Given the description of an element on the screen output the (x, y) to click on. 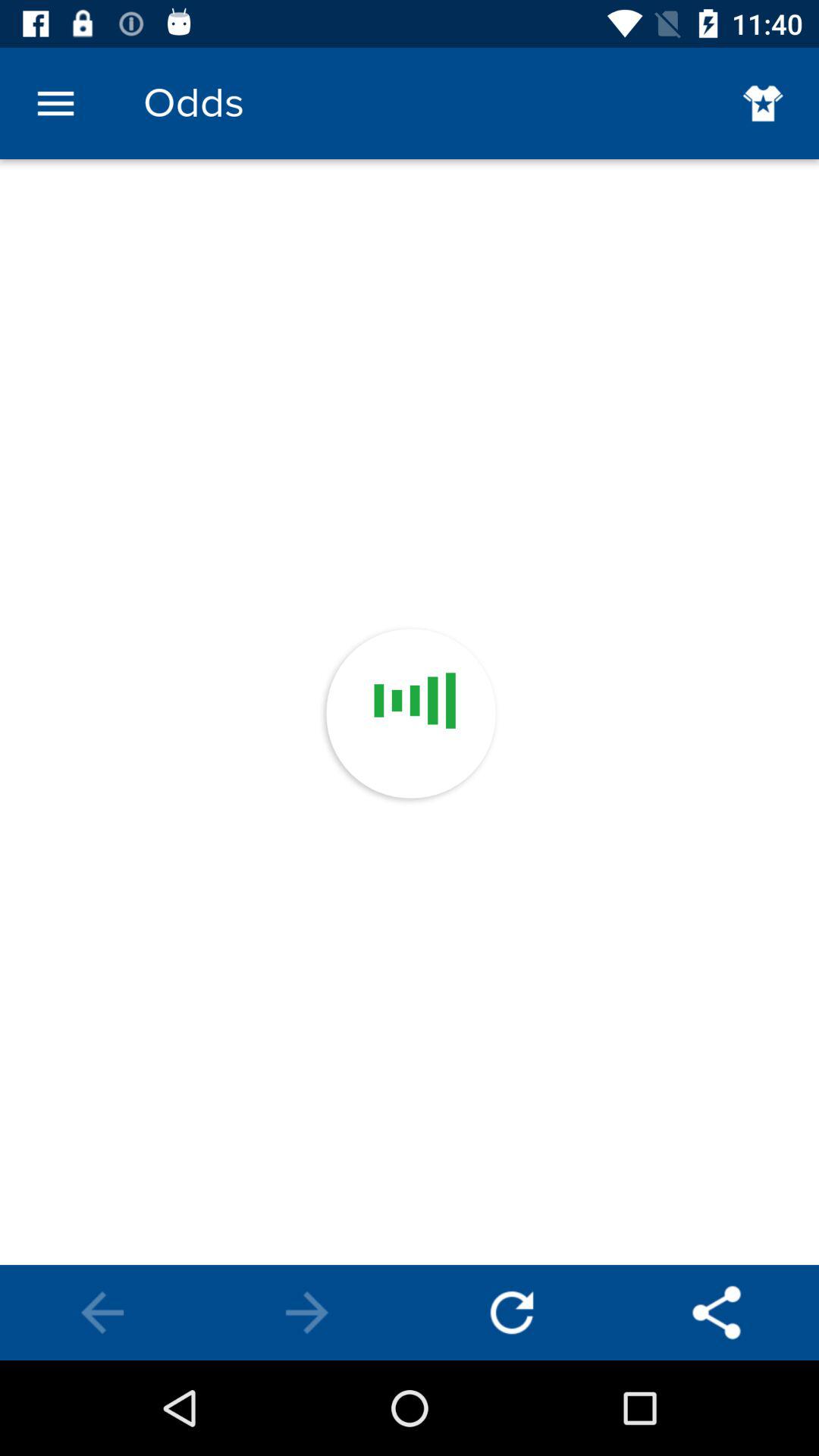
go back (716, 1312)
